Given the description of an element on the screen output the (x, y) to click on. 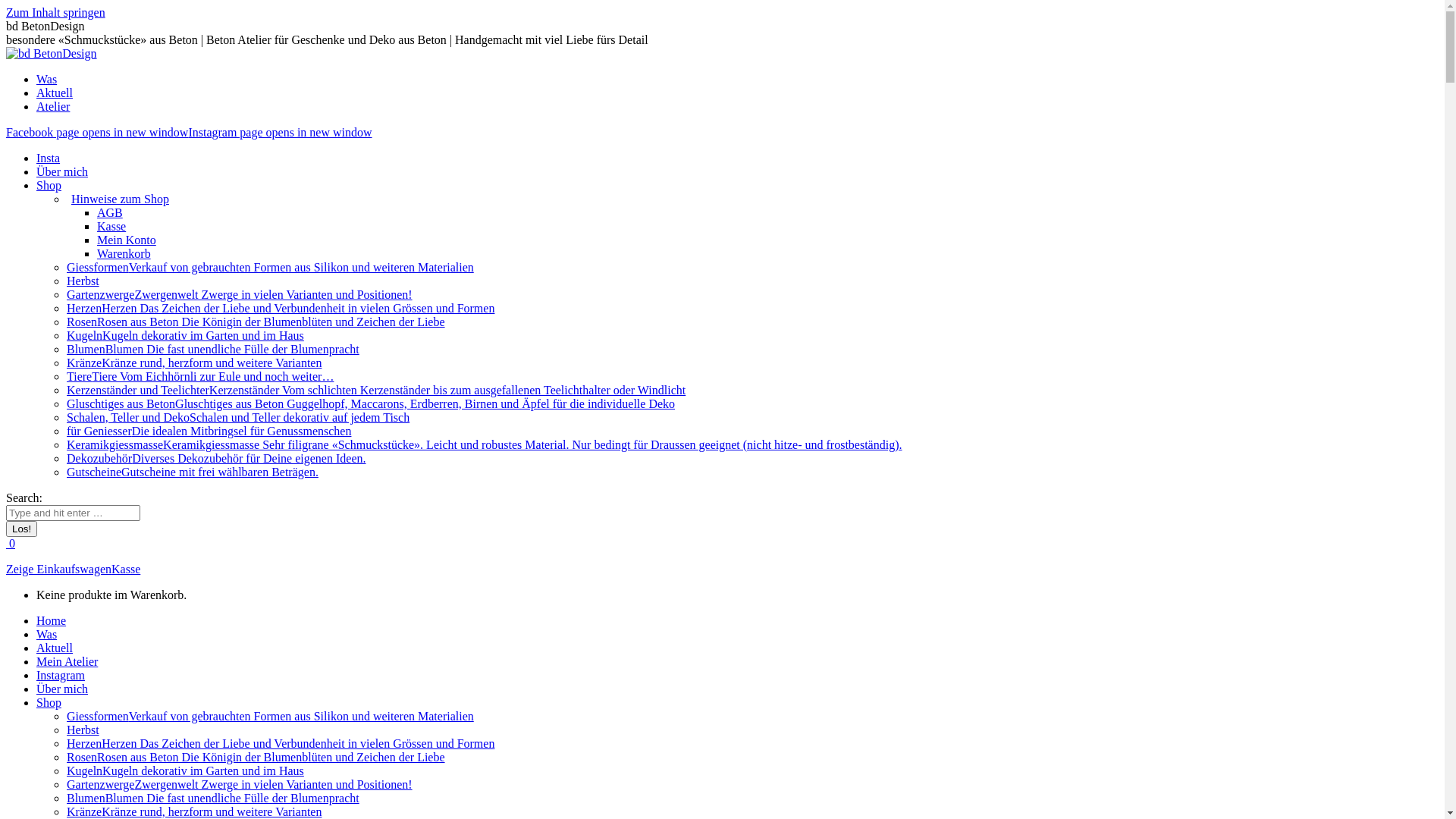
Mein Atelier Element type: text (66, 661)
Instagram Element type: text (60, 674)
Atelier Element type: text (52, 106)
Herbst Element type: text (82, 729)
Herbst Element type: text (82, 280)
KugelnKugeln dekorativ im Garten und im Haus Element type: text (185, 335)
Kasse Element type: text (111, 225)
Instagram page opens in new window Element type: text (279, 131)
Insta Element type: text (47, 157)
Kasse Element type: text (125, 568)
Home Element type: text (50, 620)
Was Element type: text (46, 78)
Aktuell Element type: text (54, 92)
AGB Element type: text (109, 212)
Warenkorb Element type: text (123, 253)
Facebook page opens in new window Element type: text (97, 131)
Shop Element type: text (48, 184)
Suche Element type: hover (73, 512)
 0 Element type: text (10, 542)
Mein Konto Element type: text (126, 239)
Zeige Einkaufswagen Element type: text (58, 568)
Hinweise zum Shop Element type: text (117, 198)
Zum Inhalt springen Element type: text (55, 12)
Aktuell Element type: text (54, 647)
Los! Element type: text (21, 528)
Was Element type: text (46, 633)
Shop Element type: text (48, 702)
KugelnKugeln dekorativ im Garten und im Haus Element type: text (185, 770)
